Given the description of an element on the screen output the (x, y) to click on. 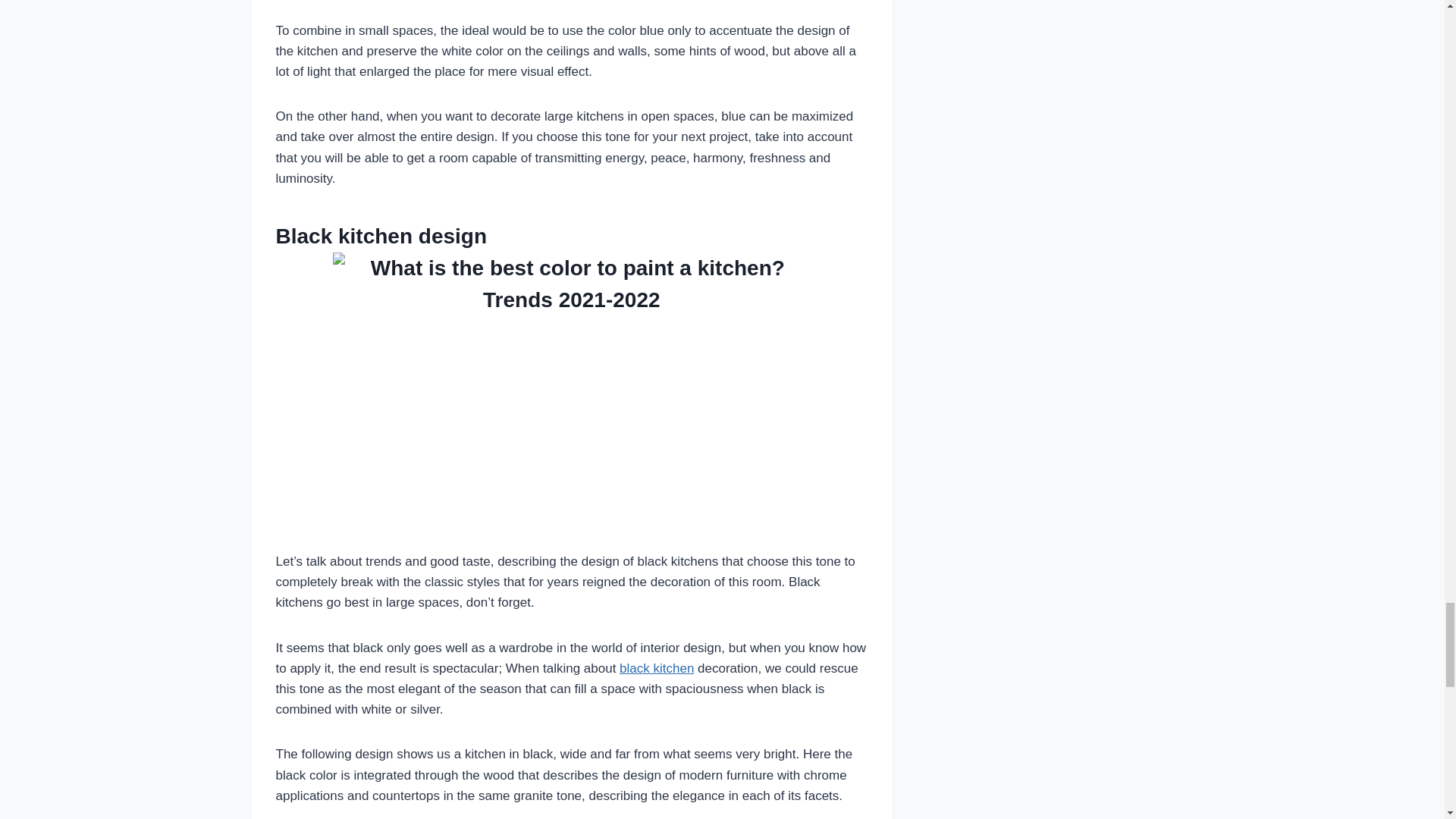
black kitchen (657, 667)
